Given the description of an element on the screen output the (x, y) to click on. 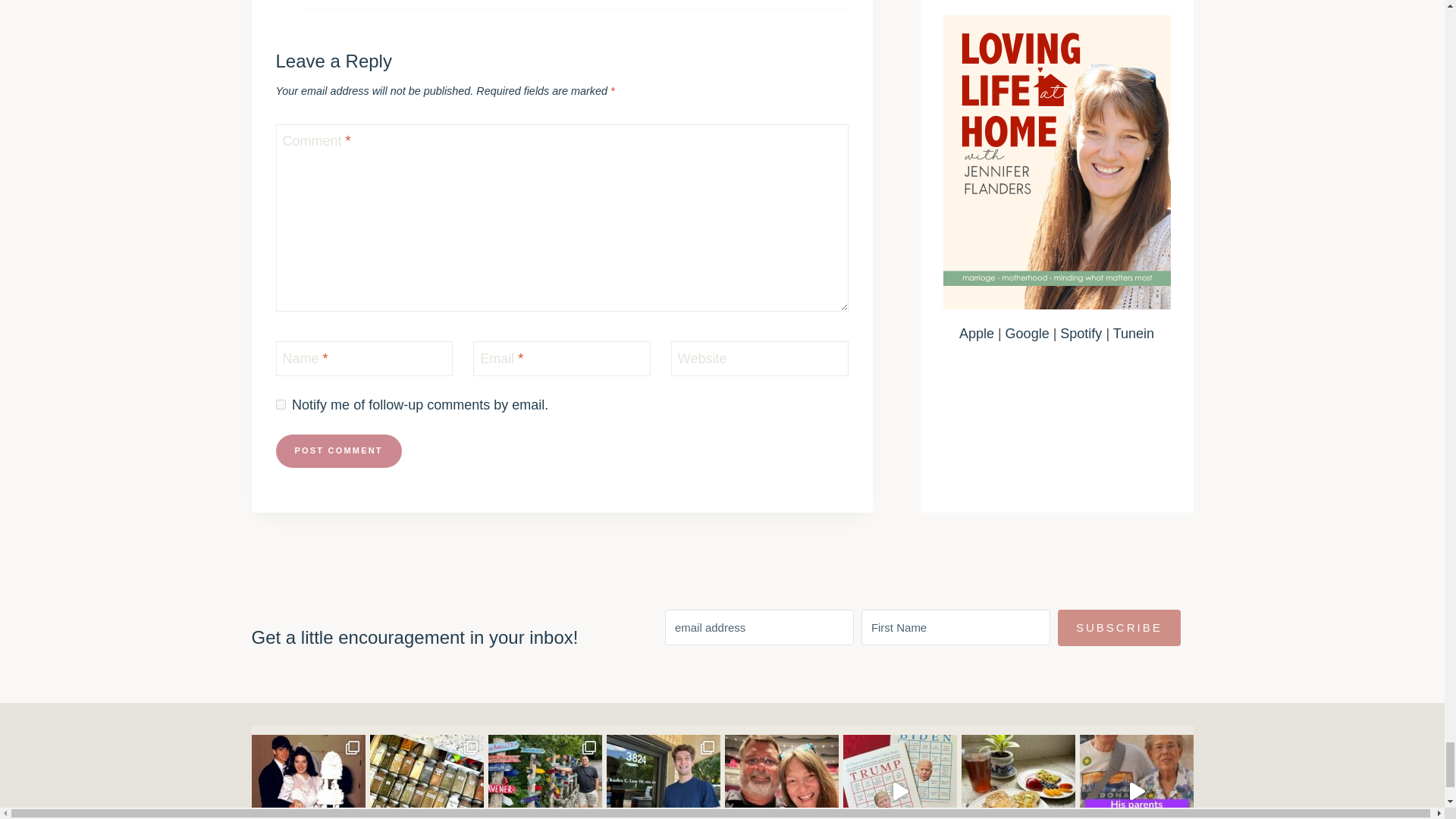
subscribe (280, 404)
Post Comment (338, 450)
